Given the description of an element on the screen output the (x, y) to click on. 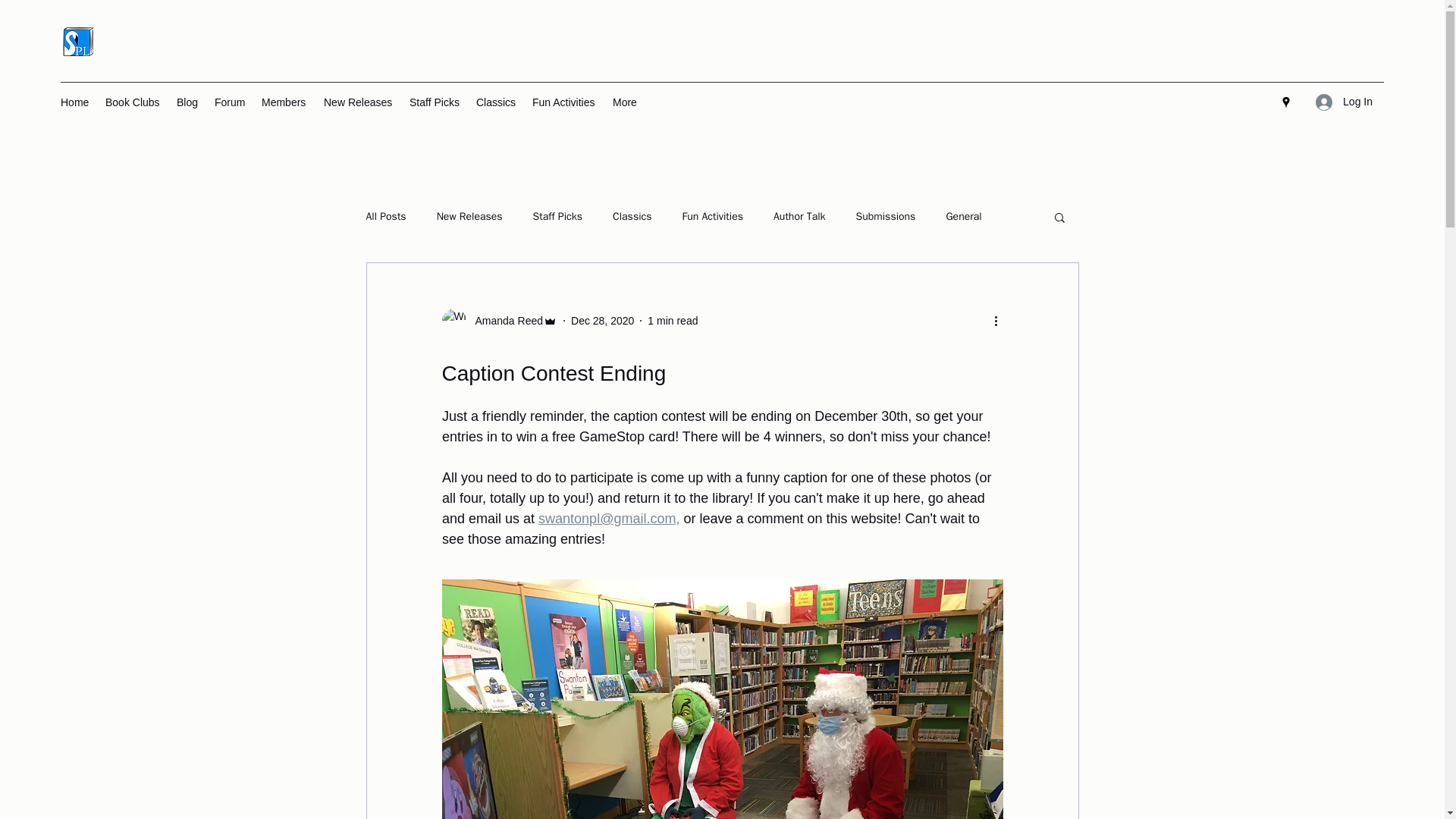
Submissions (885, 216)
Fun Activities (713, 216)
Staff Picks (557, 216)
Members (284, 101)
Forum (229, 101)
1 min read (672, 319)
Dec 28, 2020 (601, 319)
All Posts (385, 216)
Amanda Reed (504, 320)
General (962, 216)
